Given the description of an element on the screen output the (x, y) to click on. 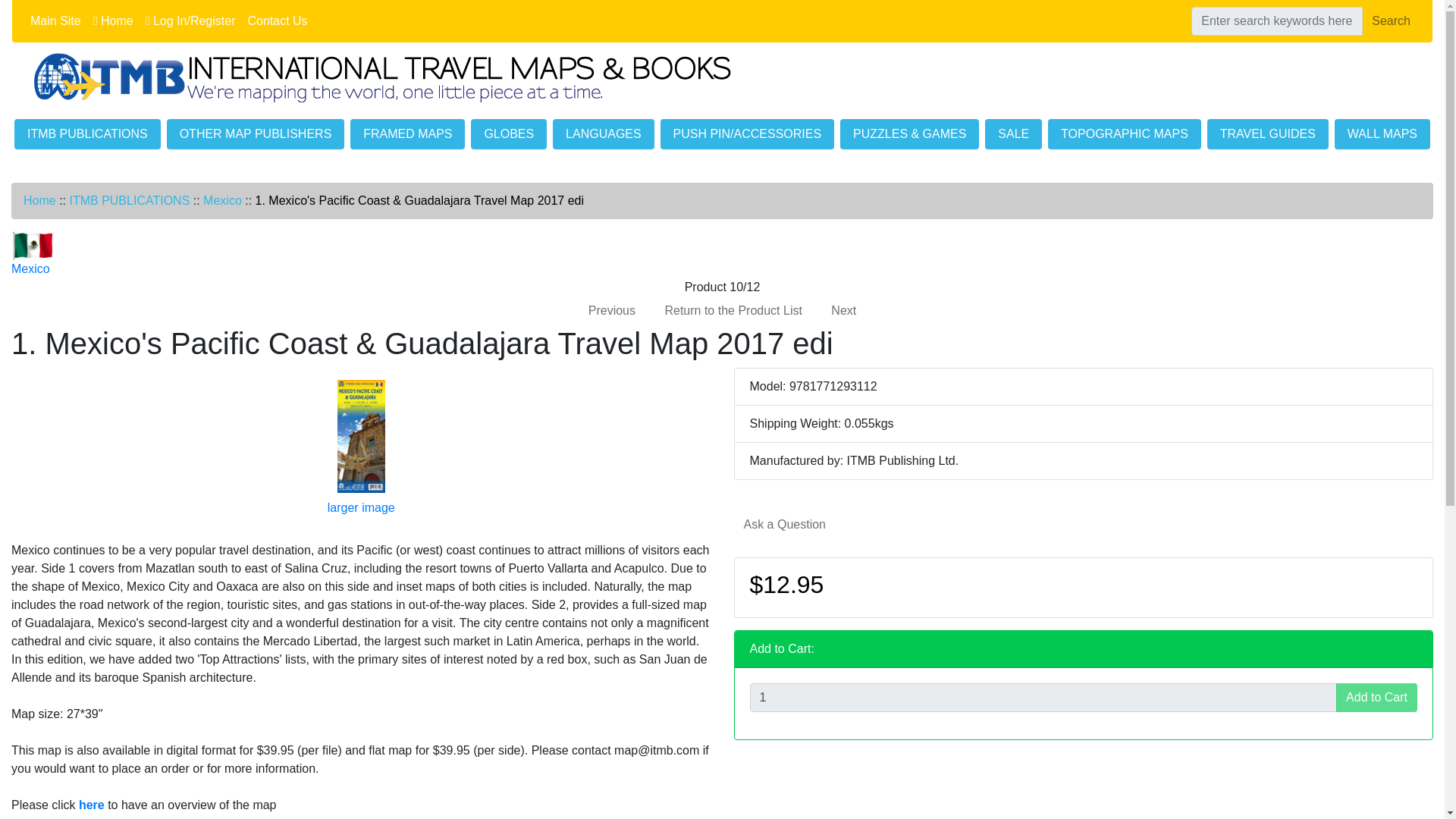
Home (113, 20)
Mexico (33, 245)
FRAMED MAPS (407, 133)
ITMB PUBLICATIONS (128, 200)
Home (39, 200)
Contact Us (277, 20)
LANGUAGES (603, 133)
TRAVEL GUIDES (1267, 133)
Mexico (222, 200)
1 (1042, 697)
We are mapping the world, one little picec at a time! (383, 76)
Return to the Product List (731, 309)
SALE (1013, 133)
Mexico (33, 256)
Previous (611, 309)
